Given the description of an element on the screen output the (x, y) to click on. 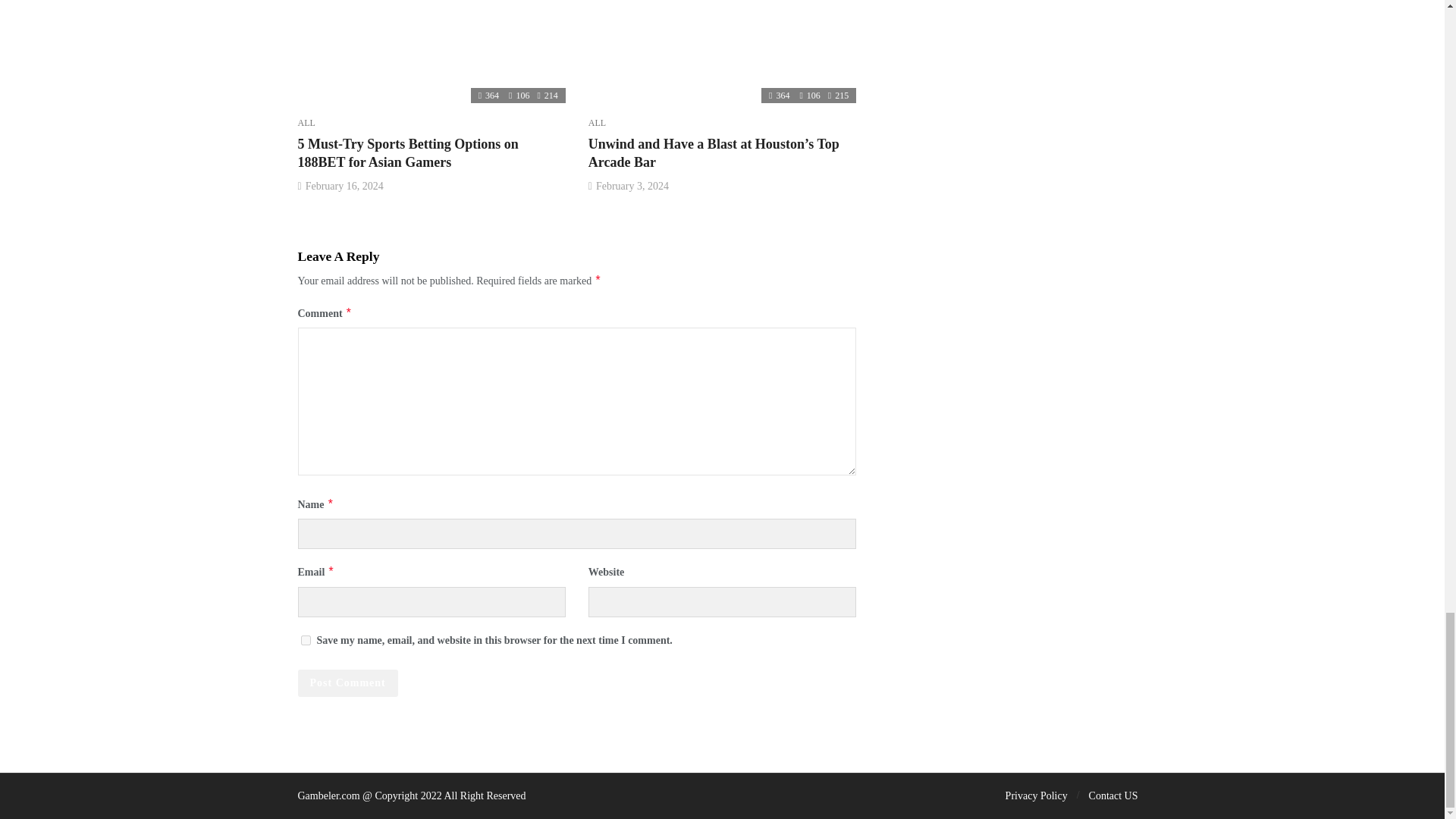
Post Comment (347, 682)
5 Must-Try Sports Betting Options on 188BET for Asian Gamers (407, 152)
yes (304, 640)
5 Must-Try Sports Betting Options on 188BET for Asian Gamers (430, 51)
